Given the description of an element on the screen output the (x, y) to click on. 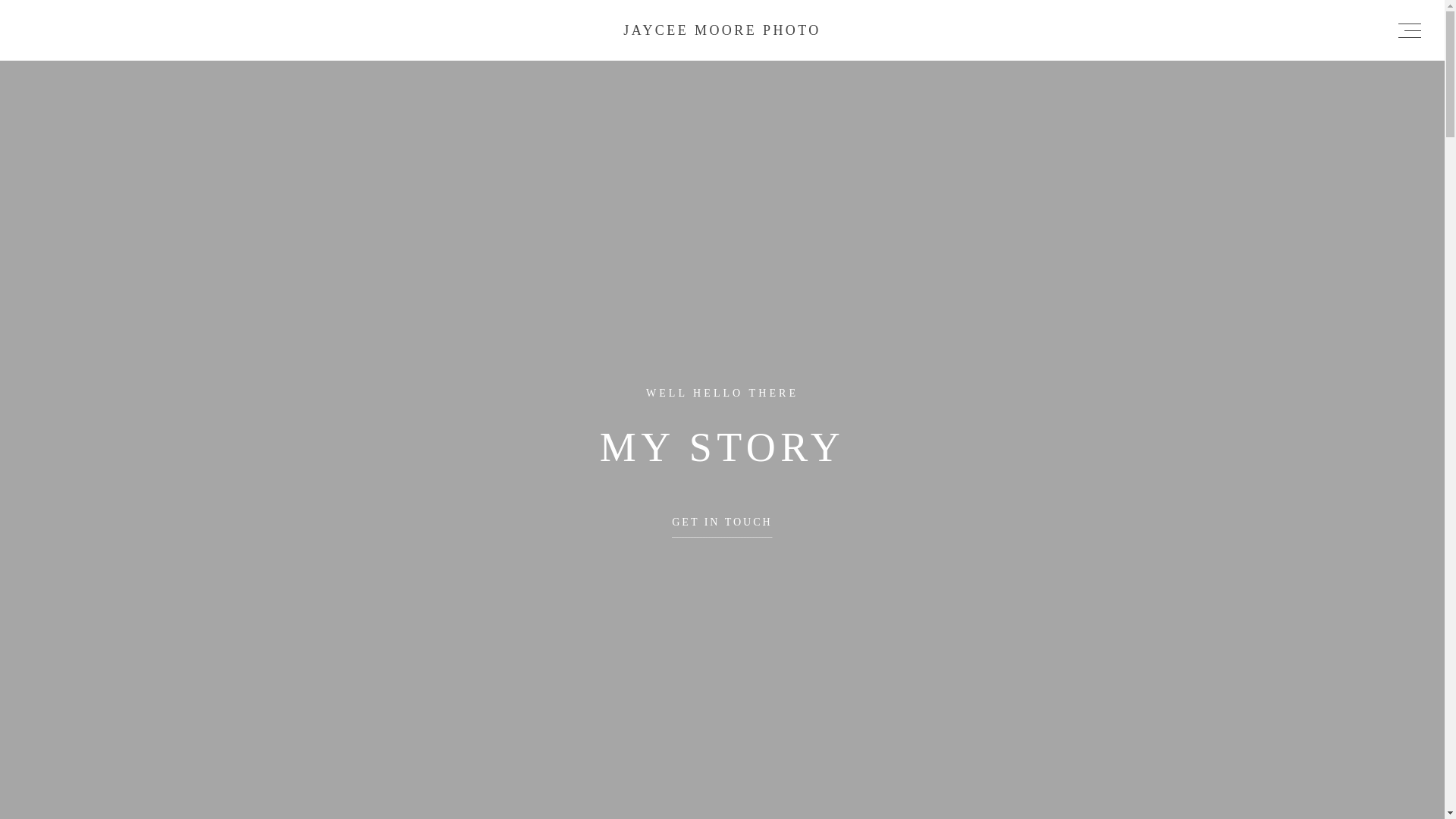
JAYCEE MOORE PHOTO (721, 30)
GET IN TOUCH (721, 527)
